Given the description of an element on the screen output the (x, y) to click on. 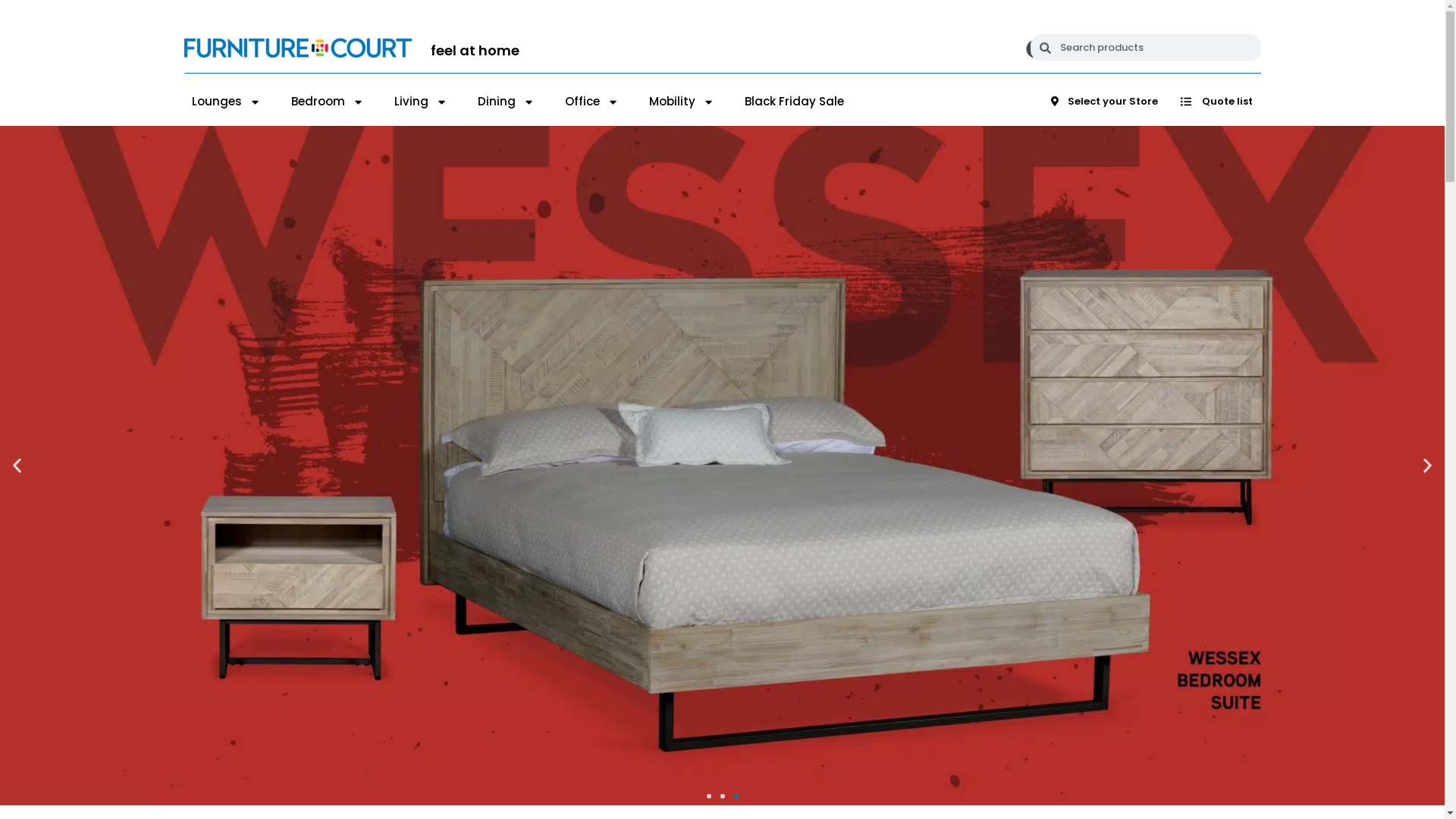
Mobility Element type: text (681, 101)
Dining Element type: text (505, 101)
Lounges Element type: text (225, 101)
Office Element type: text (591, 101)
Bedroom Element type: text (327, 101)
Select your Store Element type: text (1104, 101)
Quote list Element type: text (1216, 101)
Living Element type: text (420, 101)
Black Friday Sale Element type: text (794, 101)
